Given the description of an element on the screen output the (x, y) to click on. 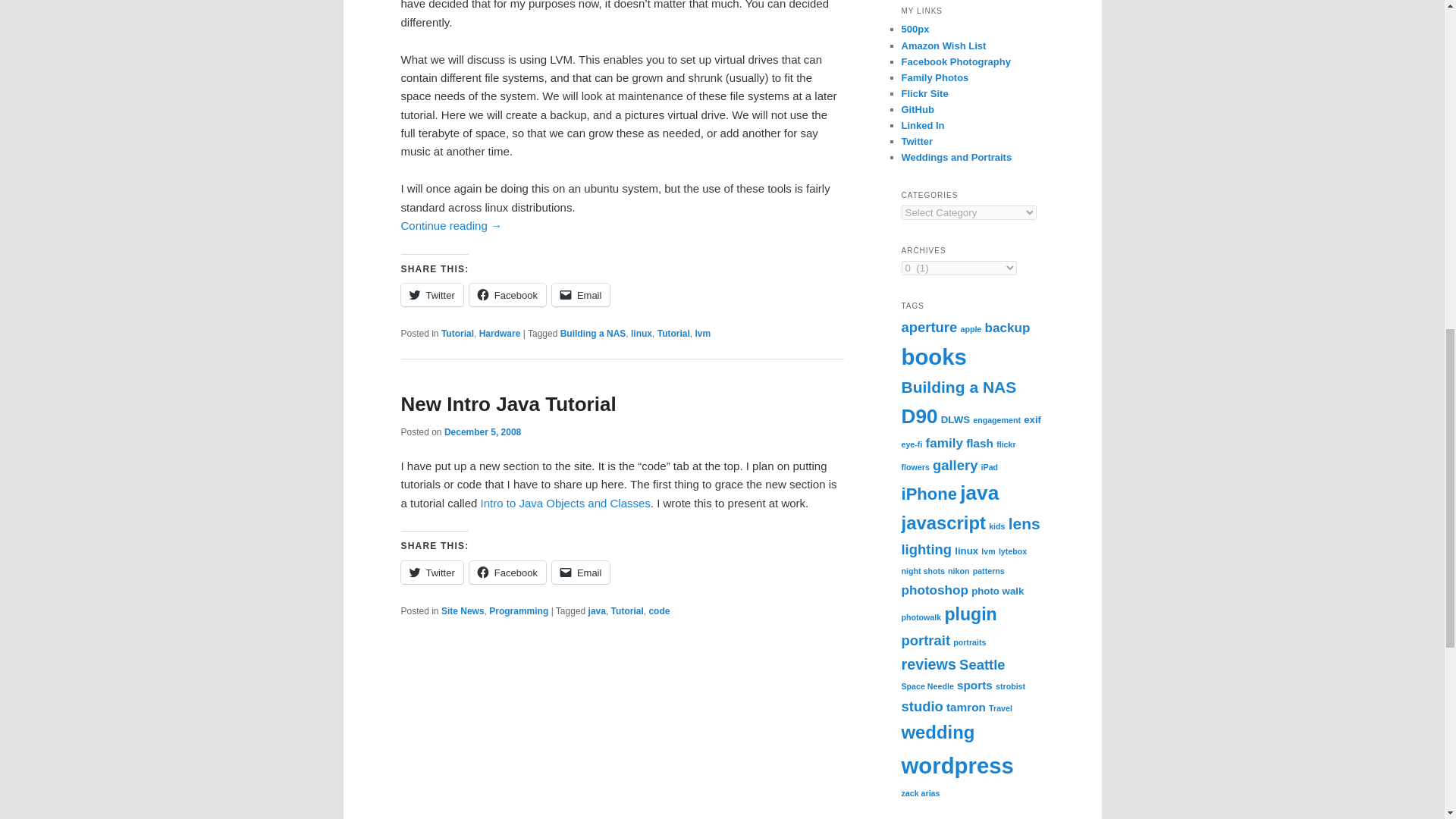
My Amazon wish list (943, 45)
Click to share on Twitter (431, 294)
Facebook (507, 572)
Click to share on Facebook (507, 572)
Christopher Ward Photography Facebook Page (955, 61)
Tutorial (674, 333)
Tutorial (627, 611)
Twitter (431, 294)
3:08 pm (482, 431)
java (596, 611)
